Given the description of an element on the screen output the (x, y) to click on. 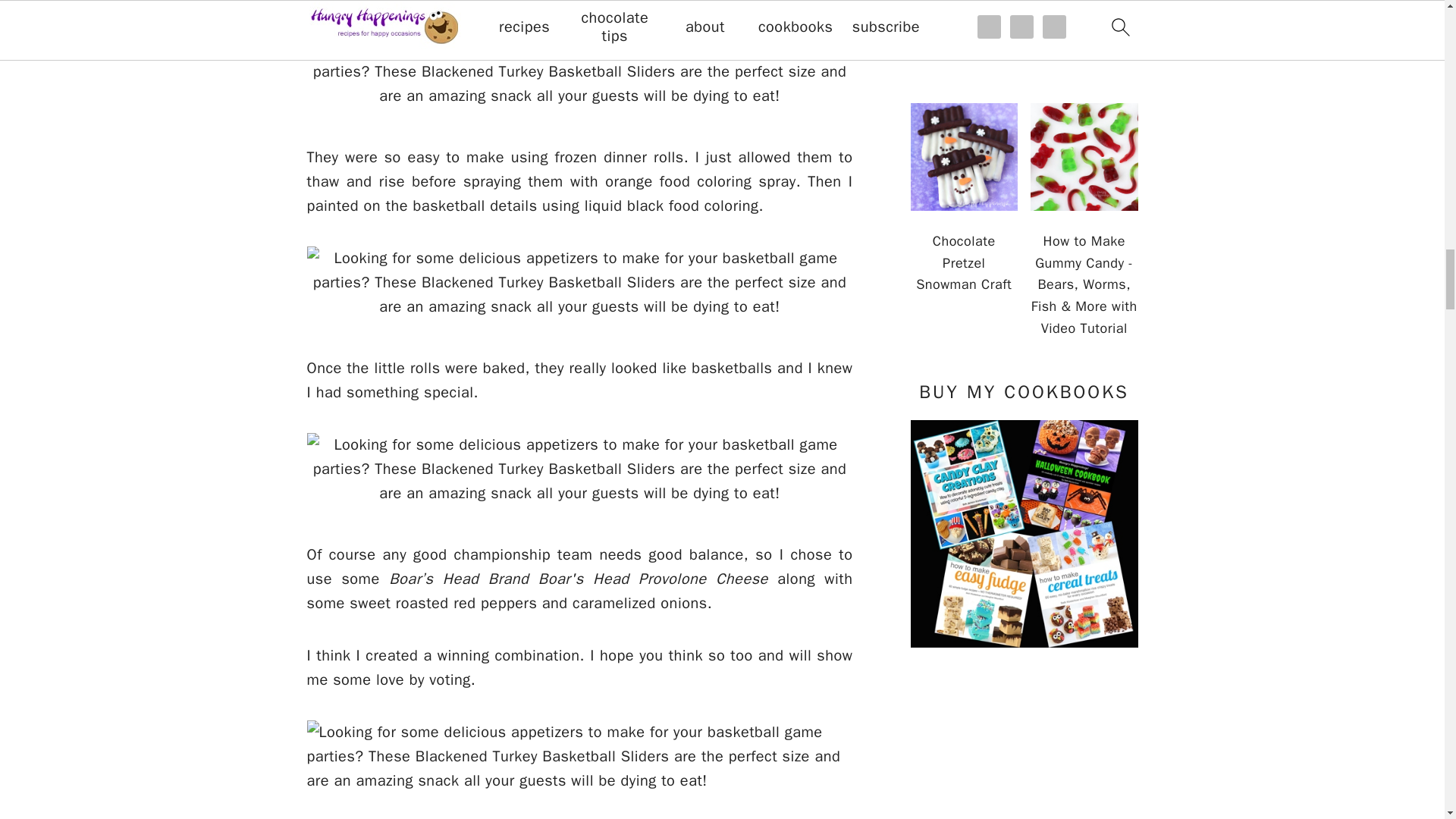
Basketball snack ideas (578, 756)
Basketball sliders recipe (578, 469)
Basketball food recipe (578, 72)
Basketball food recipe (578, 282)
